Given the description of an element on the screen output the (x, y) to click on. 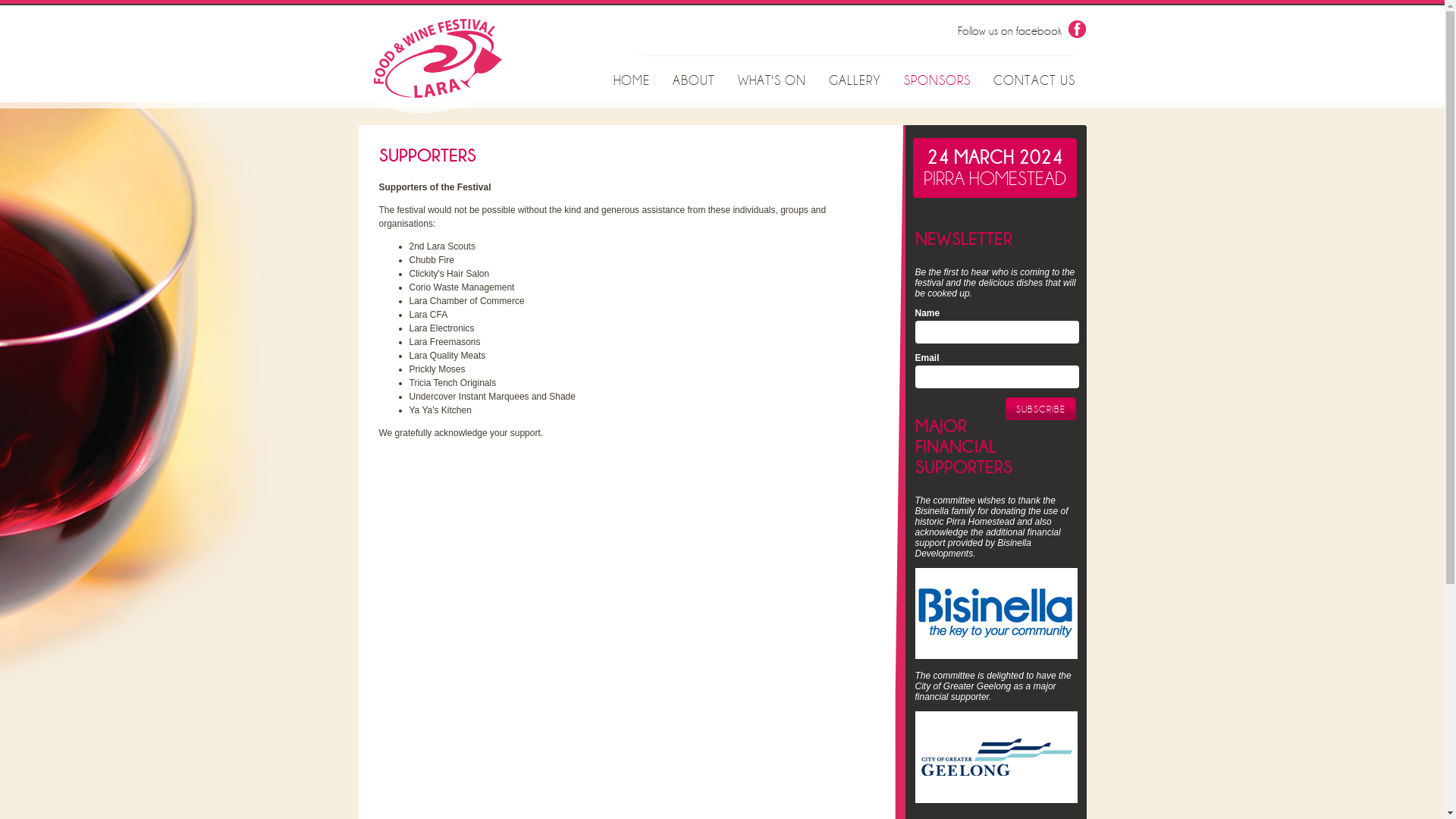
SPONSORS Element type: text (936, 81)
Follow us on facebook Element type: text (1021, 31)
WHAT'S ON Element type: text (771, 81)
CONTACT US Element type: text (1033, 81)
ABOUT Element type: text (693, 81)
Subscribe Element type: text (1040, 408)
GALLERY Element type: text (854, 81)
HOME Element type: text (631, 81)
